Given the description of an element on the screen output the (x, y) to click on. 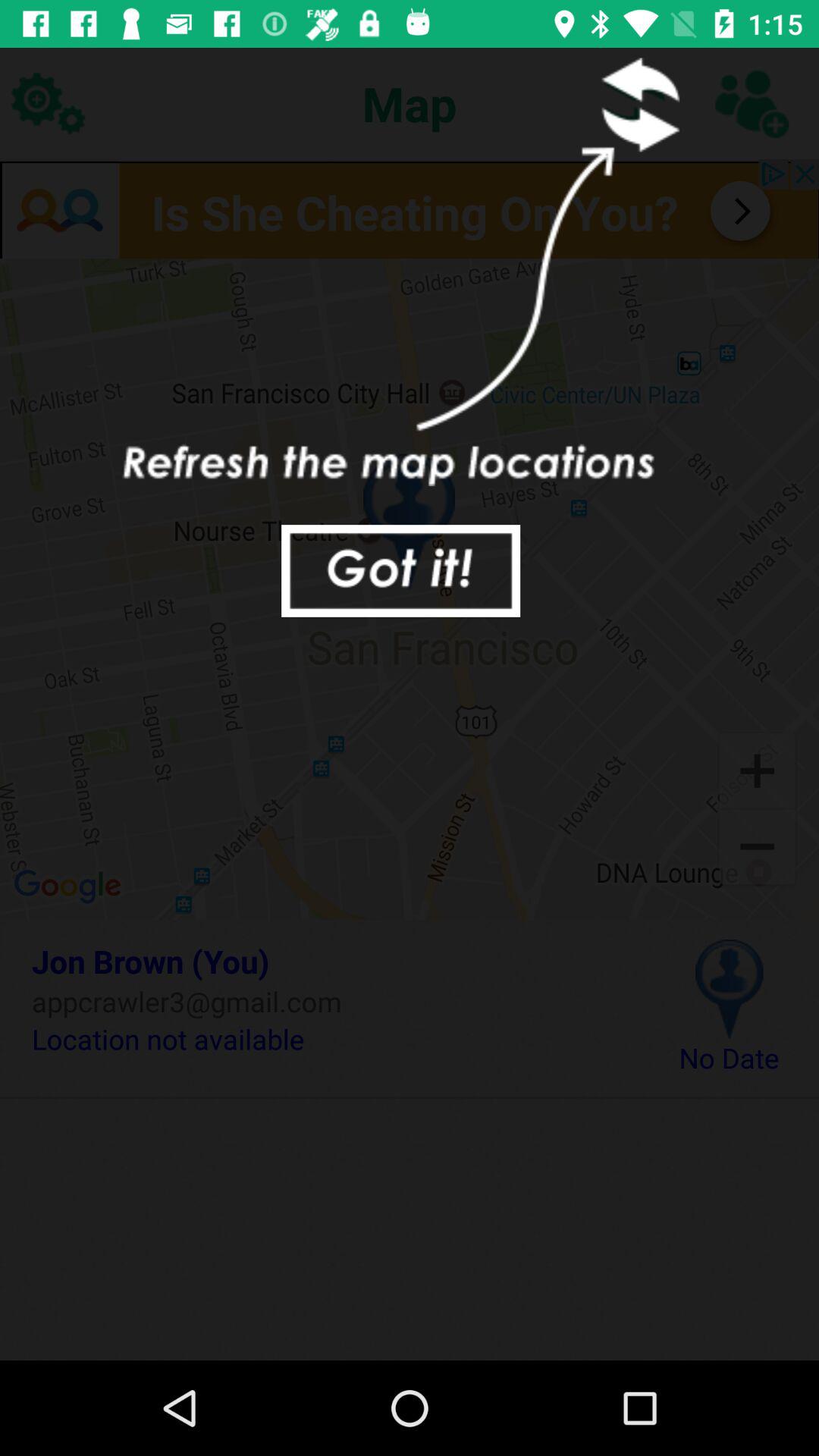
user information (751, 103)
